Given the description of an element on the screen output the (x, y) to click on. 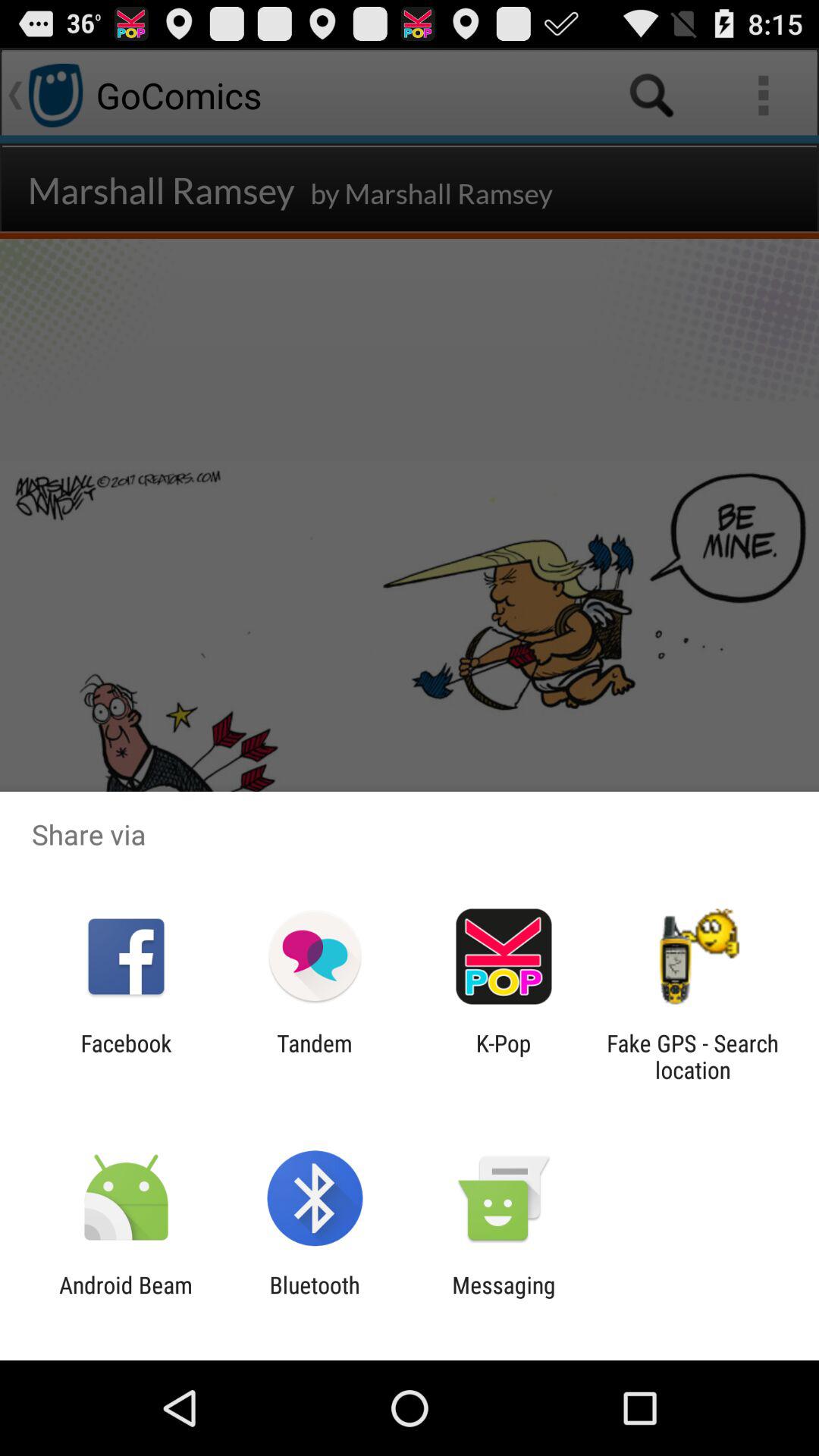
launch the item to the right of android beam (314, 1298)
